Given the description of an element on the screen output the (x, y) to click on. 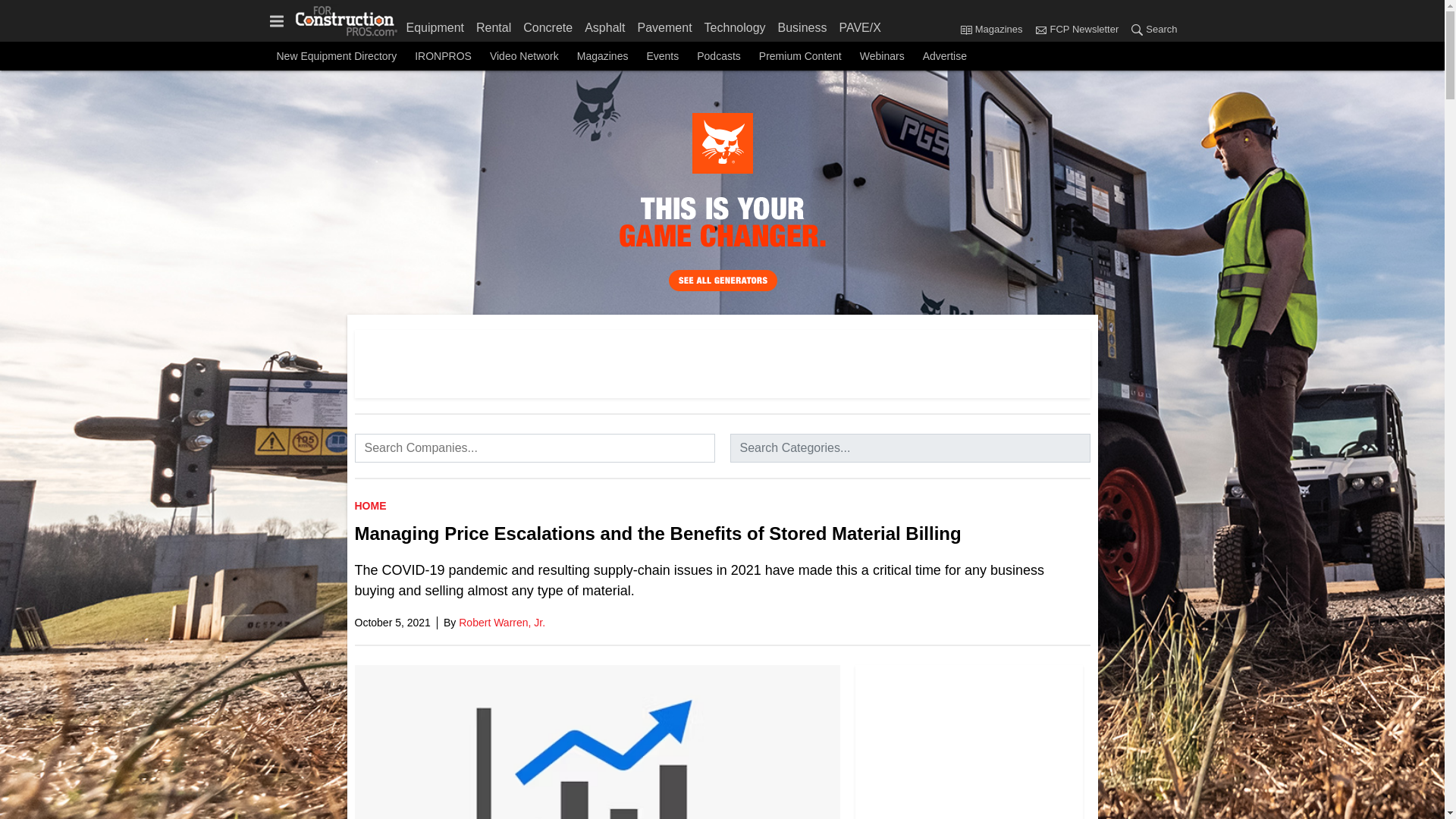
IRONPROS (442, 55)
Advertise (944, 55)
FCP Newsletter (1075, 29)
Search (1136, 29)
Magazines (994, 29)
Magazines (965, 29)
Premium Content (799, 55)
Rental (493, 24)
